Given the description of an element on the screen output the (x, y) to click on. 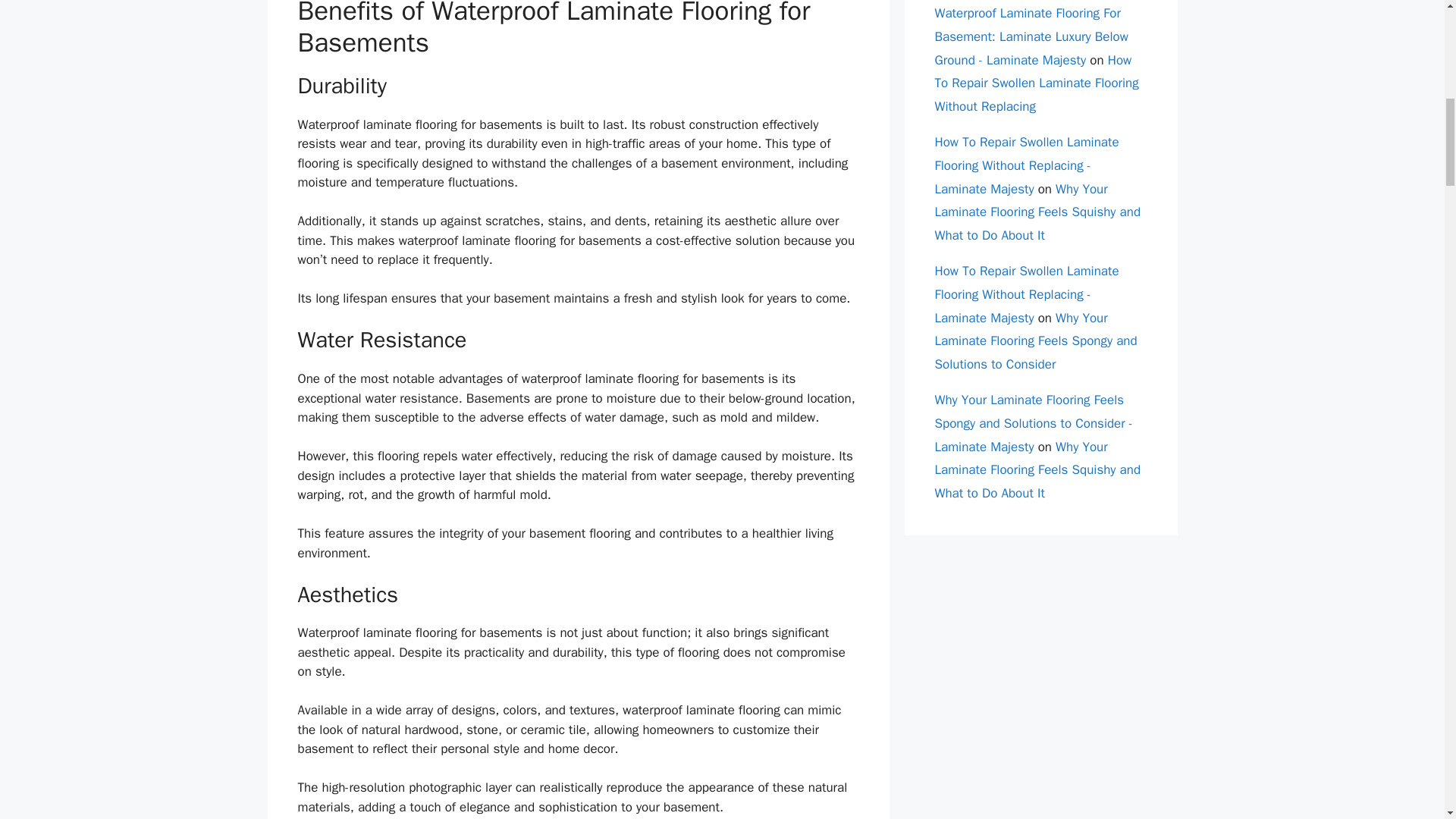
How To Repair Swollen Laminate Flooring Without Replacing (1036, 83)
